Given the description of an element on the screen output the (x, y) to click on. 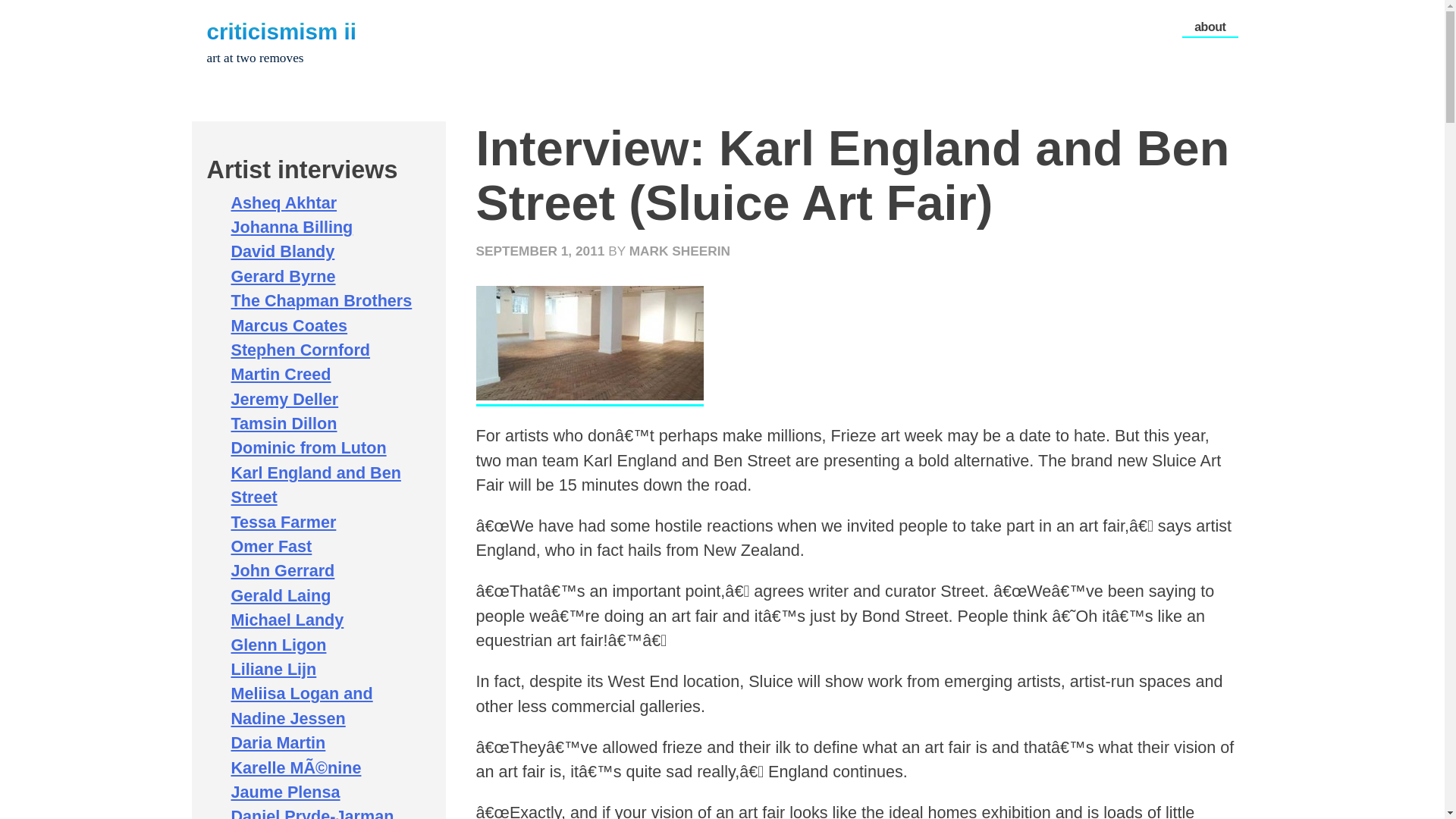
Tessa Farmer (283, 521)
Marcus Coates (288, 325)
Jeremy Deller (283, 398)
Johanna Billing (291, 226)
Asheq Akhtar (283, 202)
Karl England and Ben Street (315, 484)
Tamsin Dillon (283, 423)
The Chapman Brothers (321, 300)
criticismism ii (280, 31)
MARK SHEERIN (679, 250)
